Given the description of an element on the screen output the (x, y) to click on. 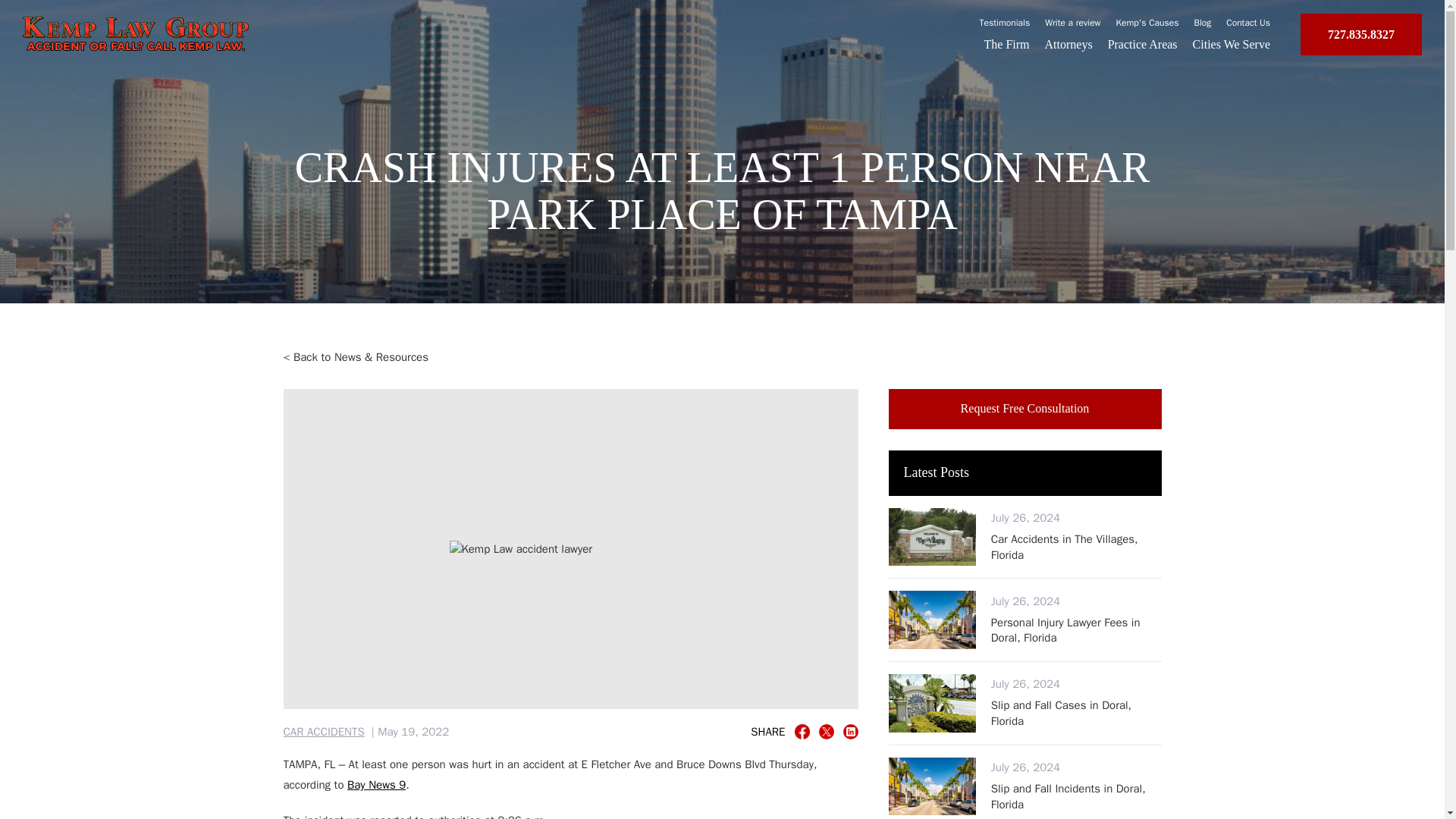
The Firm (1006, 43)
Share in Facebook (801, 731)
Personal Injury Lawyer Fees in Doral, Florida (1076, 630)
Testimonials (1004, 22)
Cities We Serve (1230, 43)
Blog (1202, 22)
Contact Us (1247, 22)
Write a review (1072, 22)
Practice Areas (1142, 43)
Attorneys (1069, 43)
Kemp's Causes (1147, 22)
Car Accidents in The Villages, Florida (1076, 546)
Latest Posts (1024, 473)
Slip and Fall Incidents in Doral, Florida (1024, 408)
